Given the description of an element on the screen output the (x, y) to click on. 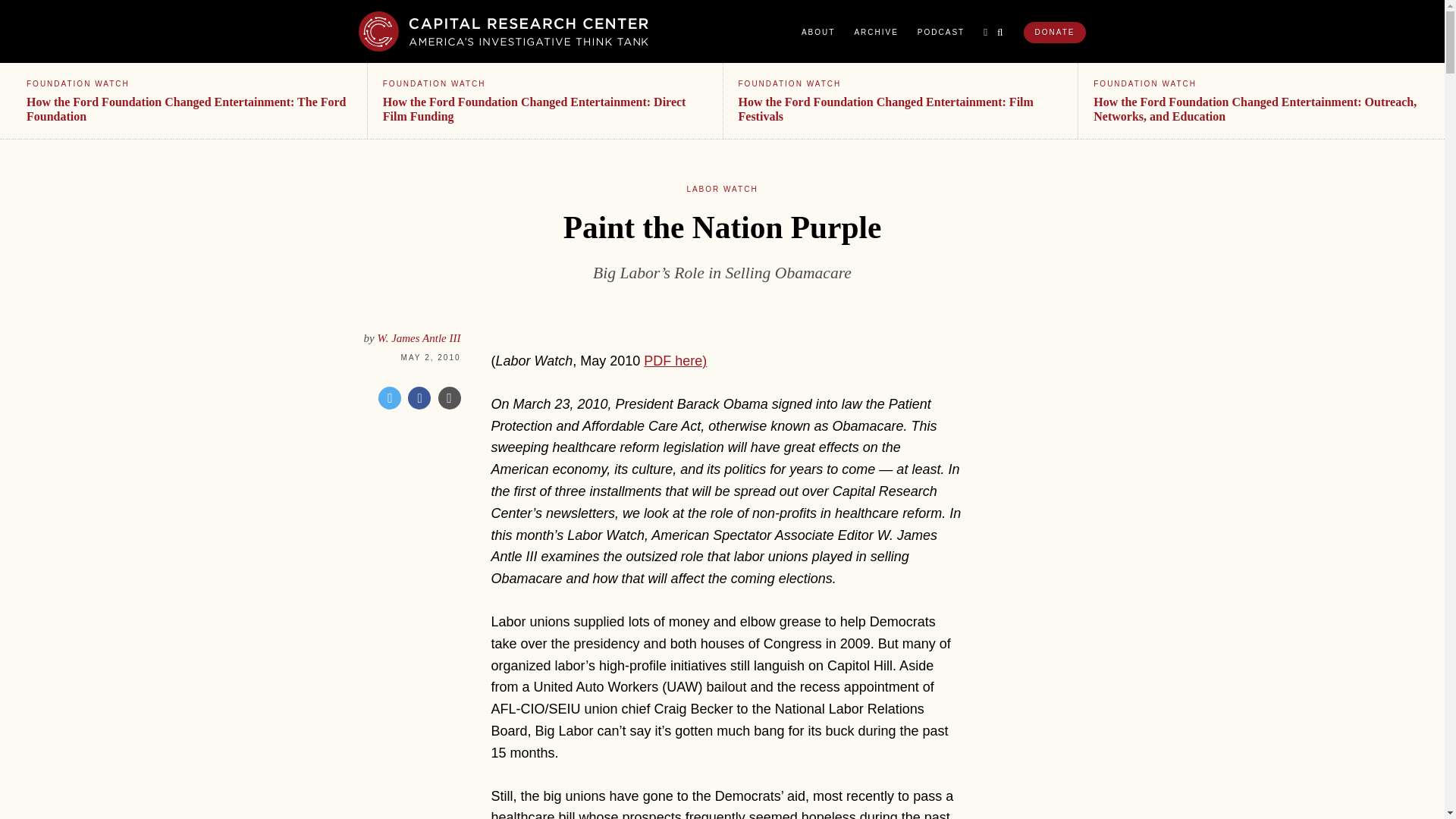
LABOR WATCH (721, 189)
ABOUT (818, 32)
Print (449, 397)
FOUNDATION WATCH (434, 83)
ARCHIVE (875, 32)
FOUNDATION WATCH (789, 83)
Share on Facebook (418, 397)
W. James Antle III (419, 337)
FOUNDATION WATCH (1144, 83)
Share on Twitter (389, 397)
PODCAST (940, 32)
Share on Facebook (418, 397)
FOUNDATION WATCH (77, 83)
